Given the description of an element on the screen output the (x, y) to click on. 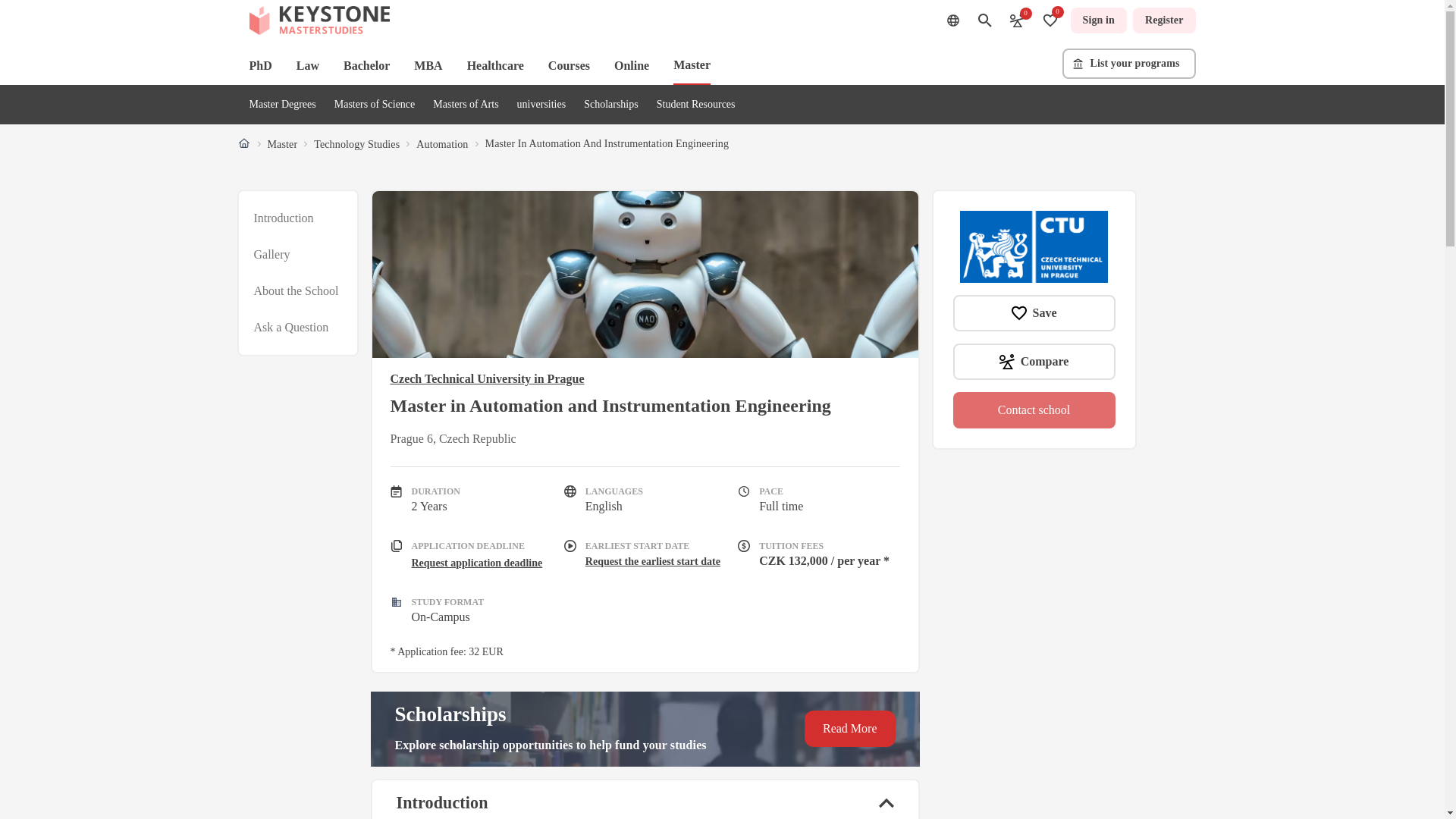
Online (631, 65)
Bachelor (366, 65)
0 (1016, 20)
Sign in (1098, 20)
Read More (850, 728)
Technology Studies (356, 144)
Scholarships (611, 103)
List your programs (1128, 63)
Masters of Science (374, 103)
